Given the description of an element on the screen output the (x, y) to click on. 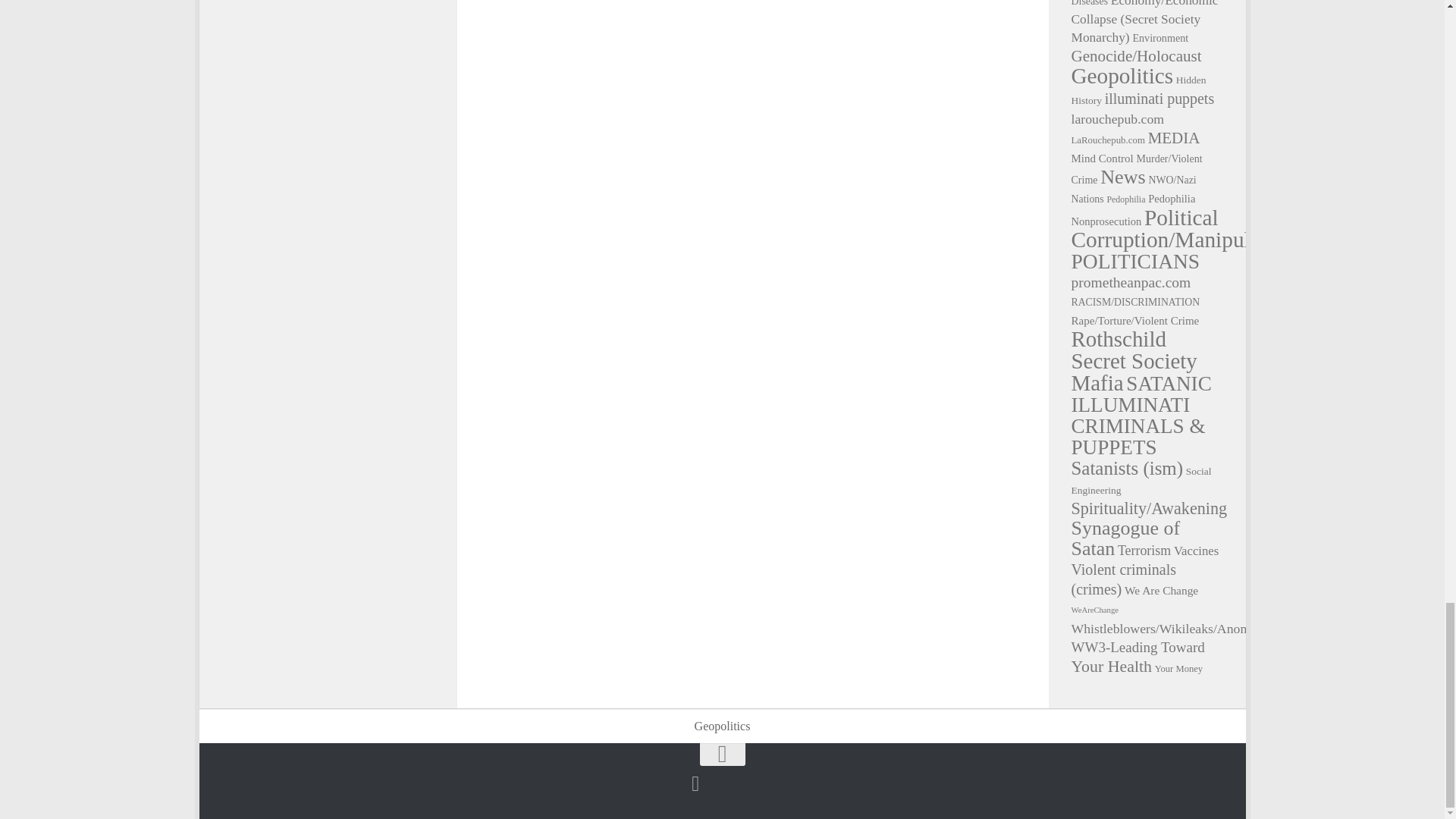
Get the book on Amazon (695, 783)
